Given the description of an element on the screen output the (x, y) to click on. 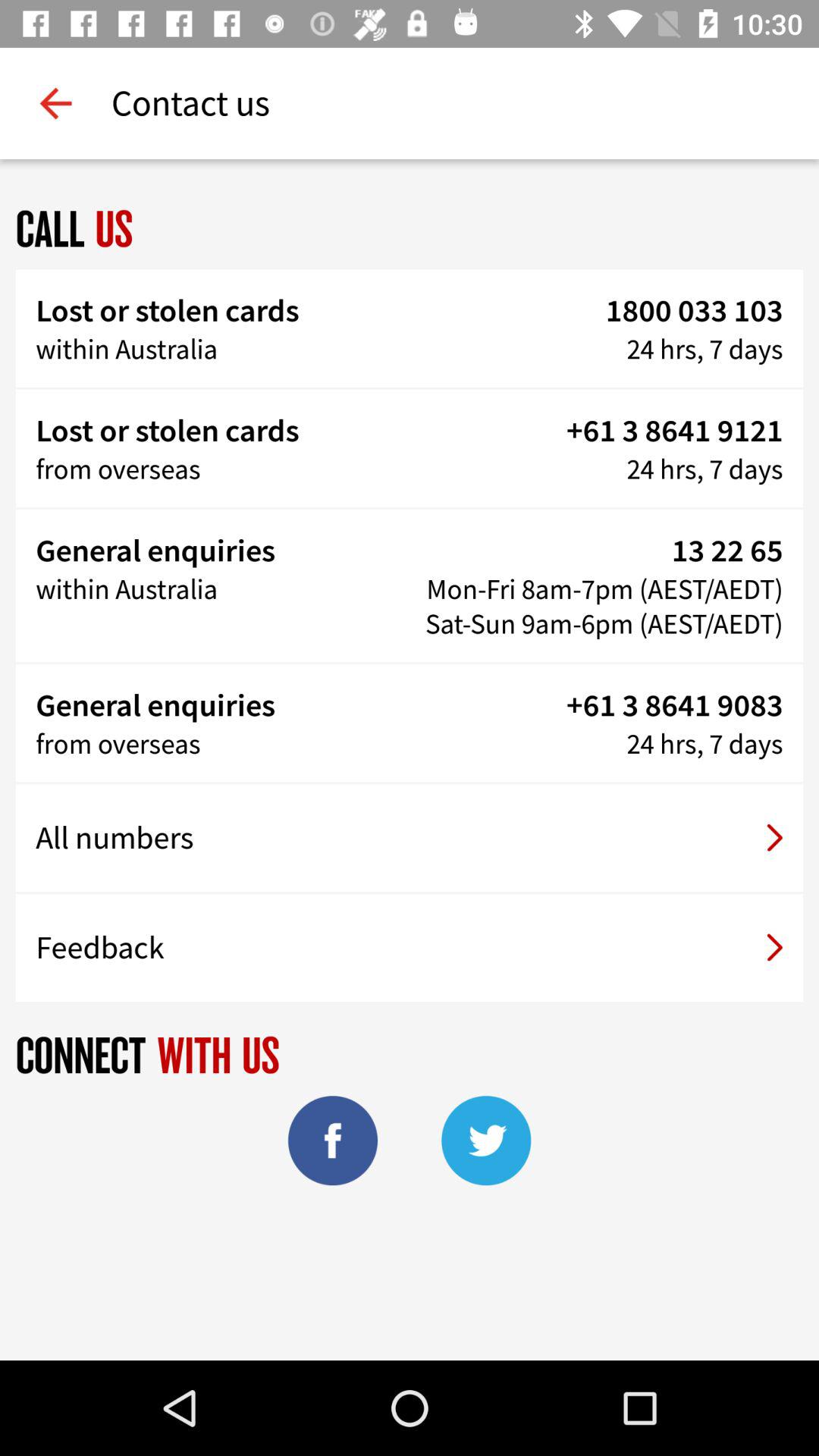
jump until the feedback item (409, 947)
